Given the description of an element on the screen output the (x, y) to click on. 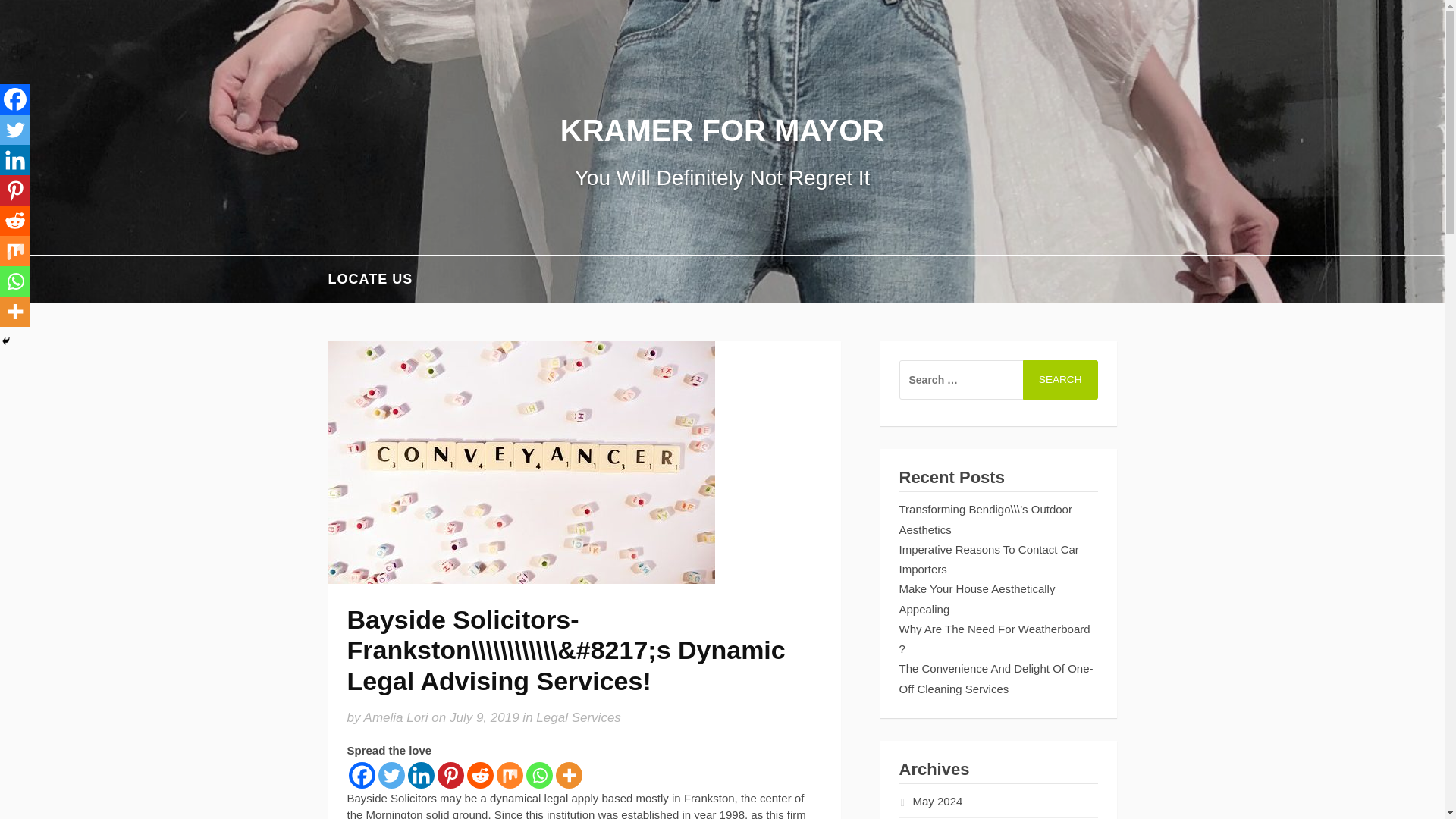
The Convenience And Delight Of One-Off Cleaning Services (996, 677)
Linkedin (15, 159)
More (567, 775)
Pinterest (449, 775)
Legal Services (578, 717)
Why Are The Need For Weatherboard ? (994, 638)
Mix (15, 250)
Imperative Reasons To Contact Car Importers (988, 558)
LOCATE US (369, 279)
Twitter (390, 775)
Pinterest (15, 190)
Facebook (15, 99)
Linkedin (420, 775)
Twitter (15, 129)
Make Your House Aesthetically Appealing (977, 598)
